Given the description of an element on the screen output the (x, y) to click on. 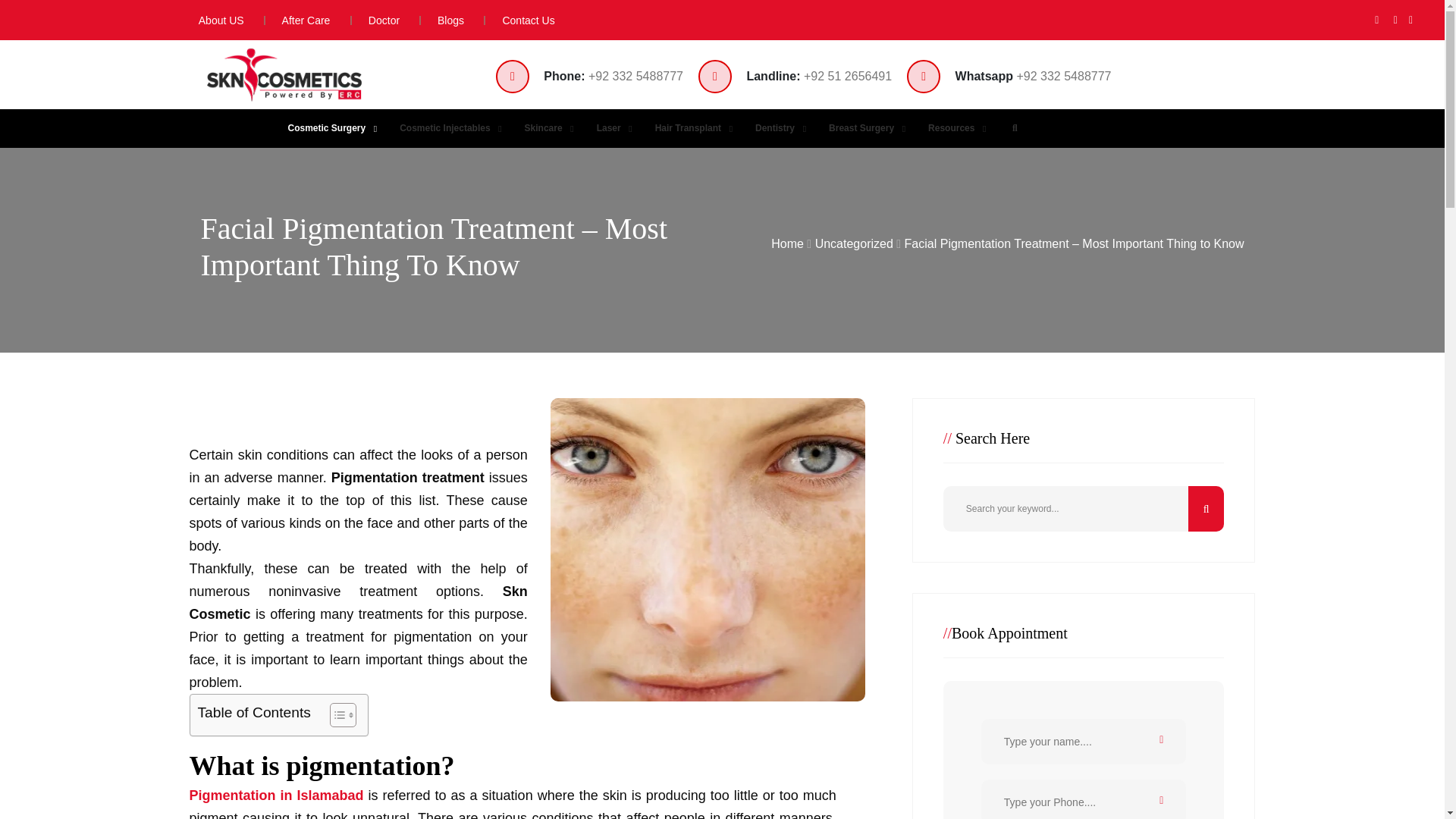
About US (213, 19)
After Care (296, 19)
Contact Us (518, 19)
Blogs (441, 19)
Cosmetic Surgery (329, 128)
Doctor (376, 19)
